Given the description of an element on the screen output the (x, y) to click on. 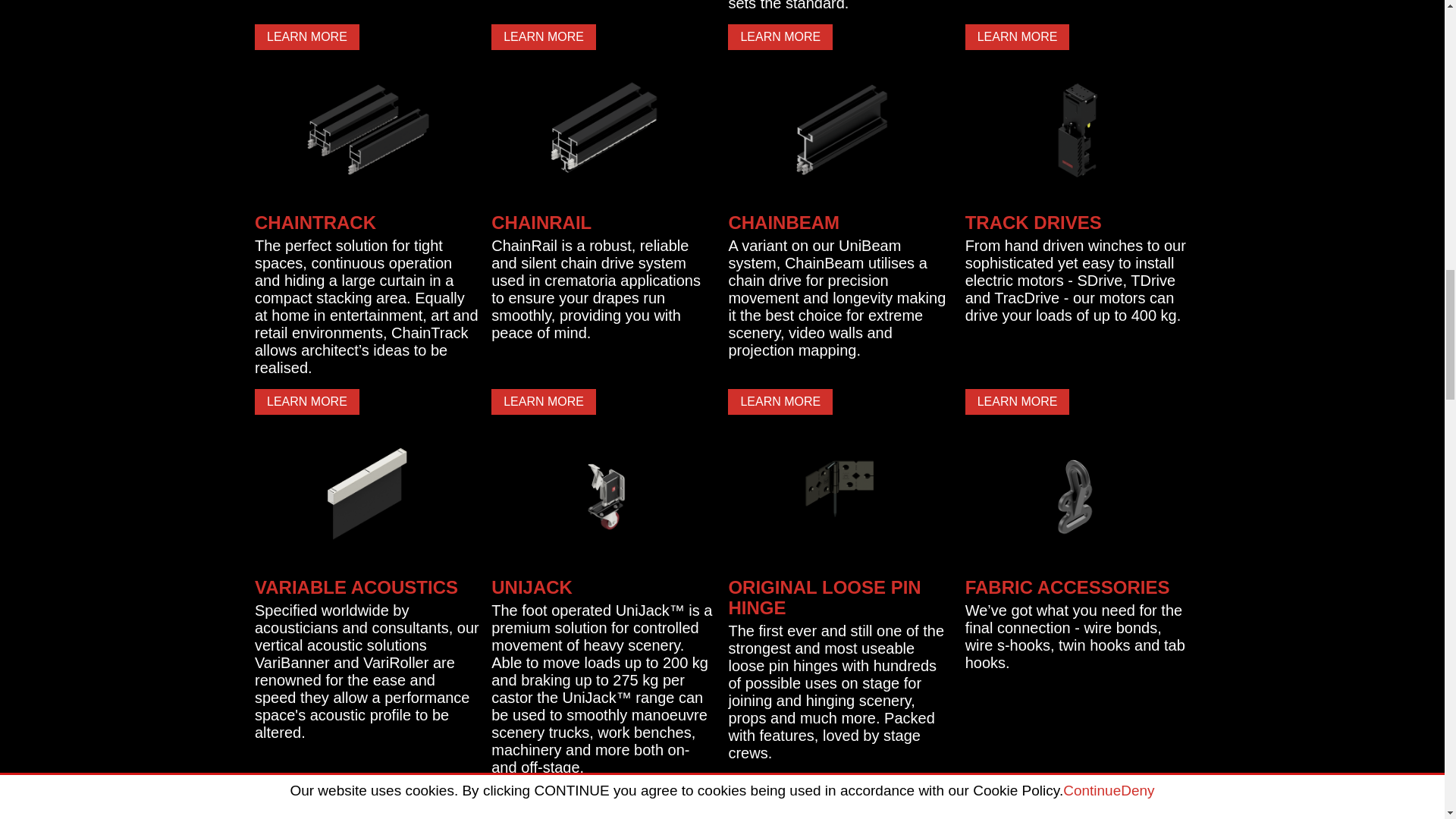
LEARN MORE (306, 36)
